Given the description of an element on the screen output the (x, y) to click on. 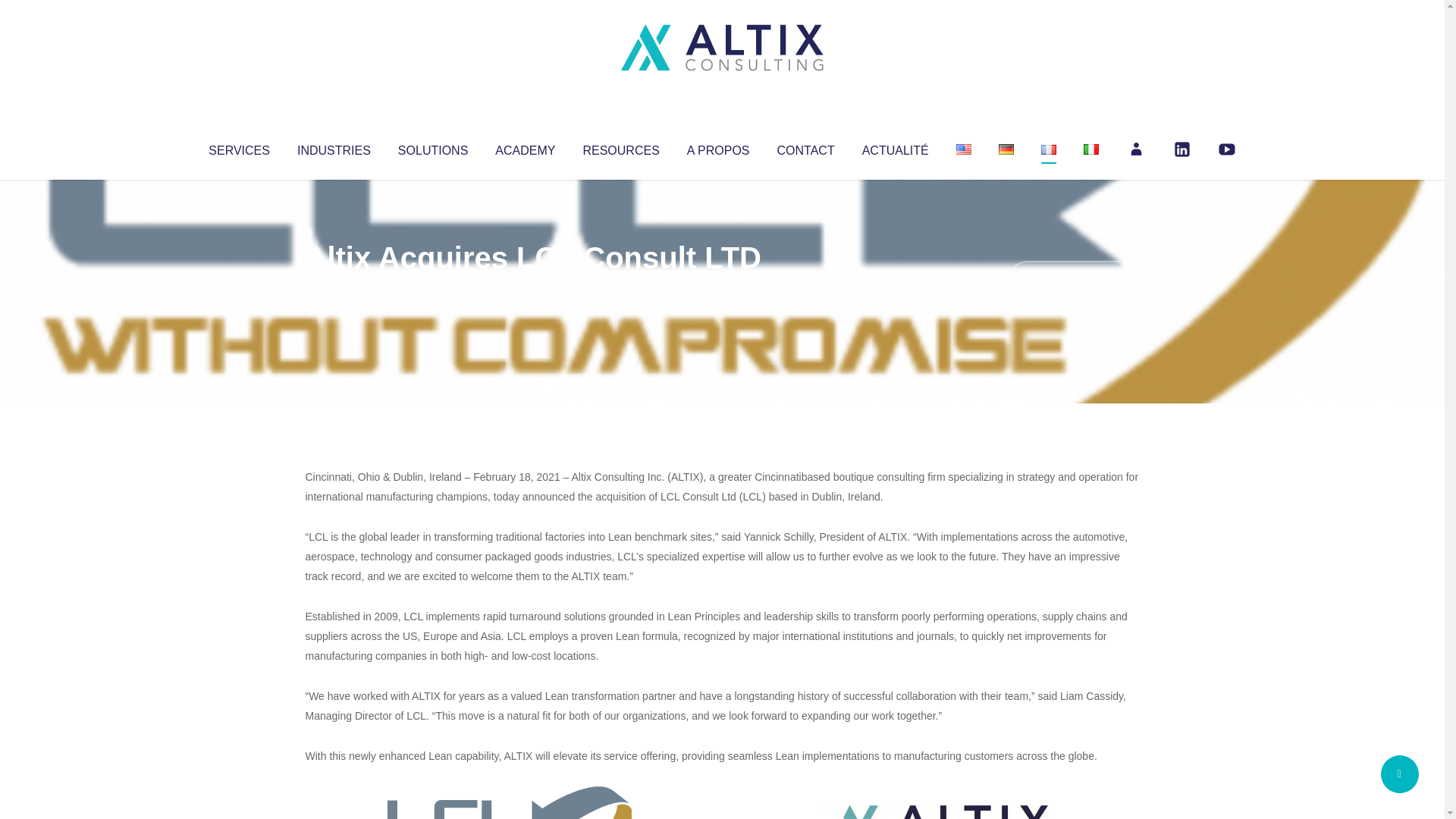
ACADEMY (524, 146)
Altix (333, 287)
Articles par Altix (333, 287)
RESOURCES (620, 146)
A PROPOS (718, 146)
INDUSTRIES (334, 146)
Uncategorized (530, 287)
No Comments (1073, 278)
SERVICES (238, 146)
SOLUTIONS (432, 146)
